Given the description of an element on the screen output the (x, y) to click on. 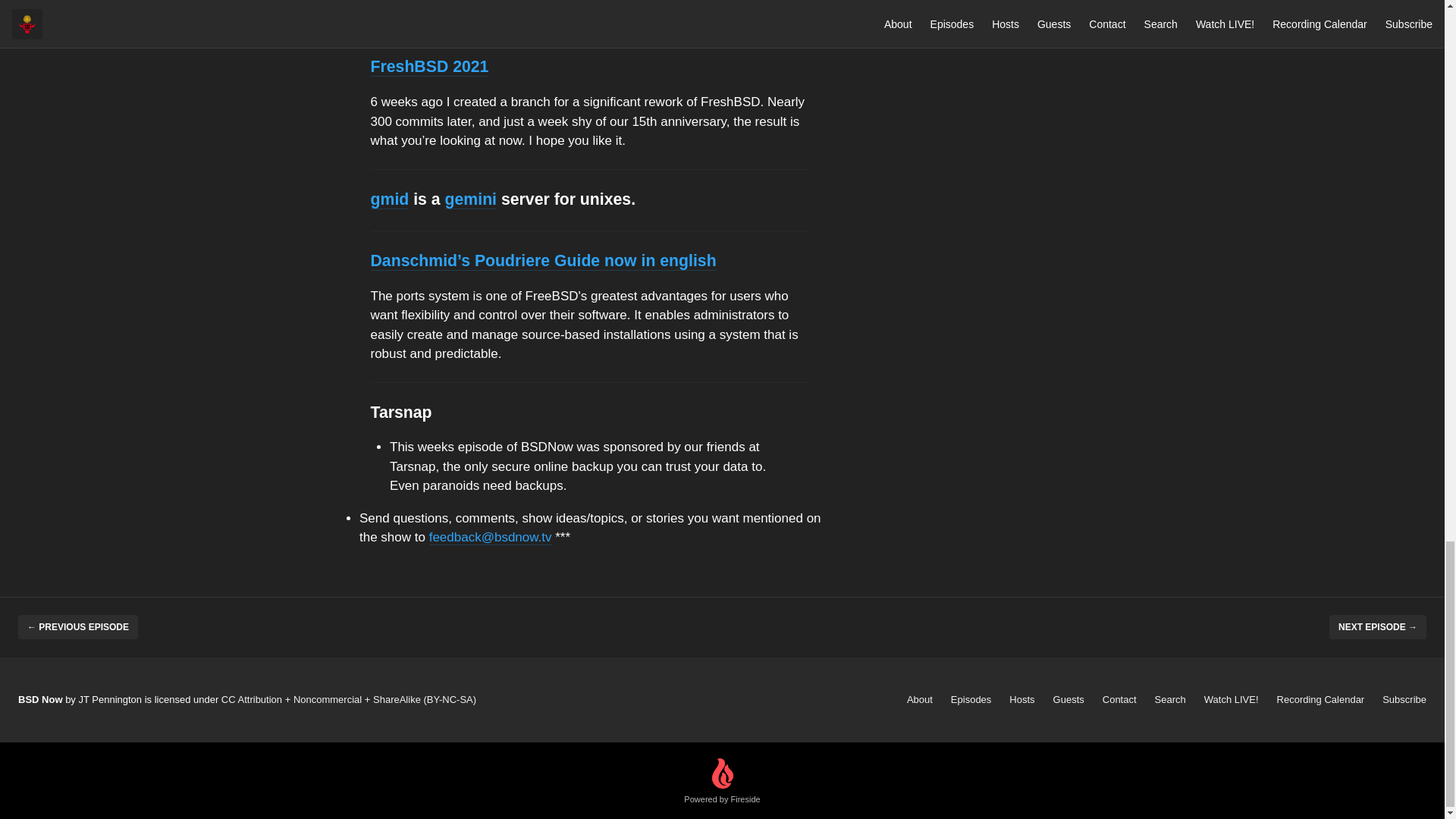
Powered by Fireside (722, 781)
